Given the description of an element on the screen output the (x, y) to click on. 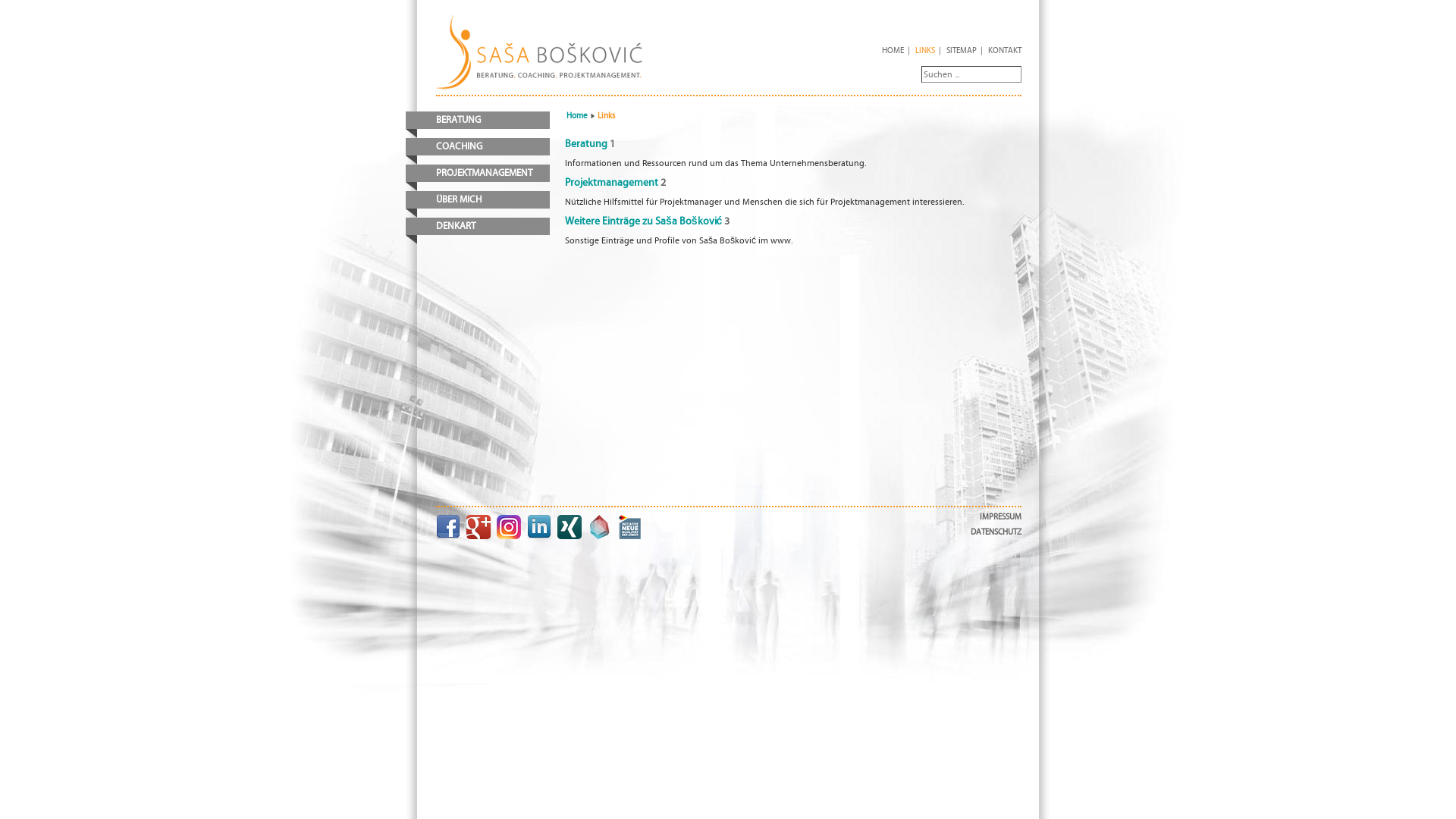
KONTAKT Element type: text (1004, 50)
Linkedin Element type: hover (539, 526)
Google+ Element type: hover (478, 526)
LINKS Element type: text (925, 50)
Instagram Element type: hover (508, 526)
DATENSCHUTZ Element type: text (995, 531)
facebook Element type: hover (448, 526)
Offensive Mittelstand - Autorisierter Berater Element type: hover (630, 526)
Projektmanagement Element type: text (611, 182)
SITEMAP Element type: text (961, 50)
COACHING Element type: text (477, 146)
Xing Element type: hover (569, 526)
PROJEKTMANAGEMENT Element type: text (477, 173)
DENKART Element type: text (477, 226)
IMPRESSUM Element type: text (1000, 516)
BERATUNG Element type: text (477, 119)
Beratung Element type: text (585, 144)
HOME Element type: text (892, 50)
Home Element type: text (576, 115)
LUXXprofile Element type: hover (599, 526)
